Given the description of an element on the screen output the (x, y) to click on. 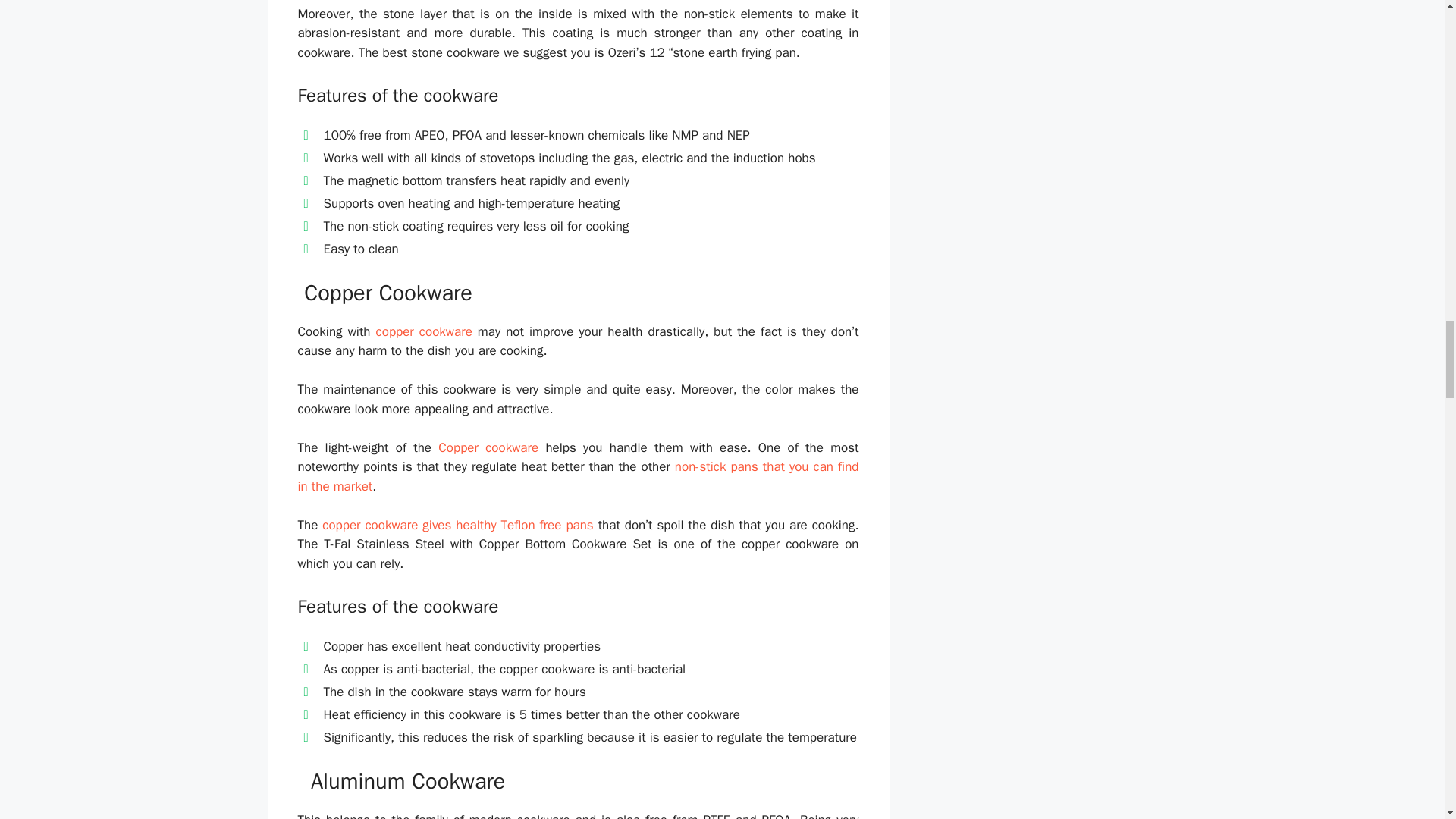
copper cookware gives healthy Teflon free pans (456, 524)
non-stick pans that you can find in the market (578, 476)
copper cookware (423, 331)
Copper cookware (488, 447)
